Given the description of an element on the screen output the (x, y) to click on. 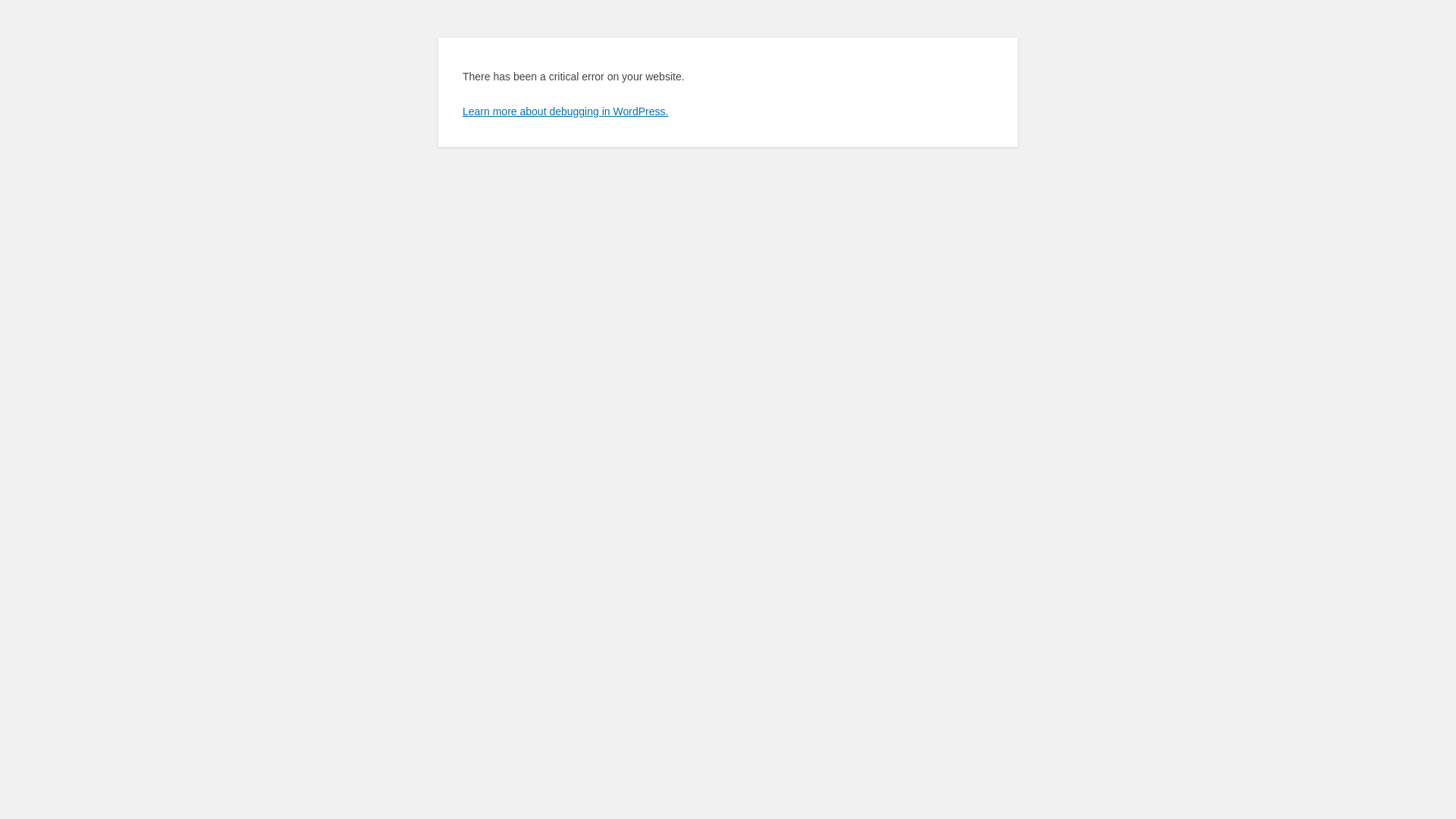
Learn more about debugging in WordPress. Element type: text (565, 111)
